Given the description of an element on the screen output the (x, y) to click on. 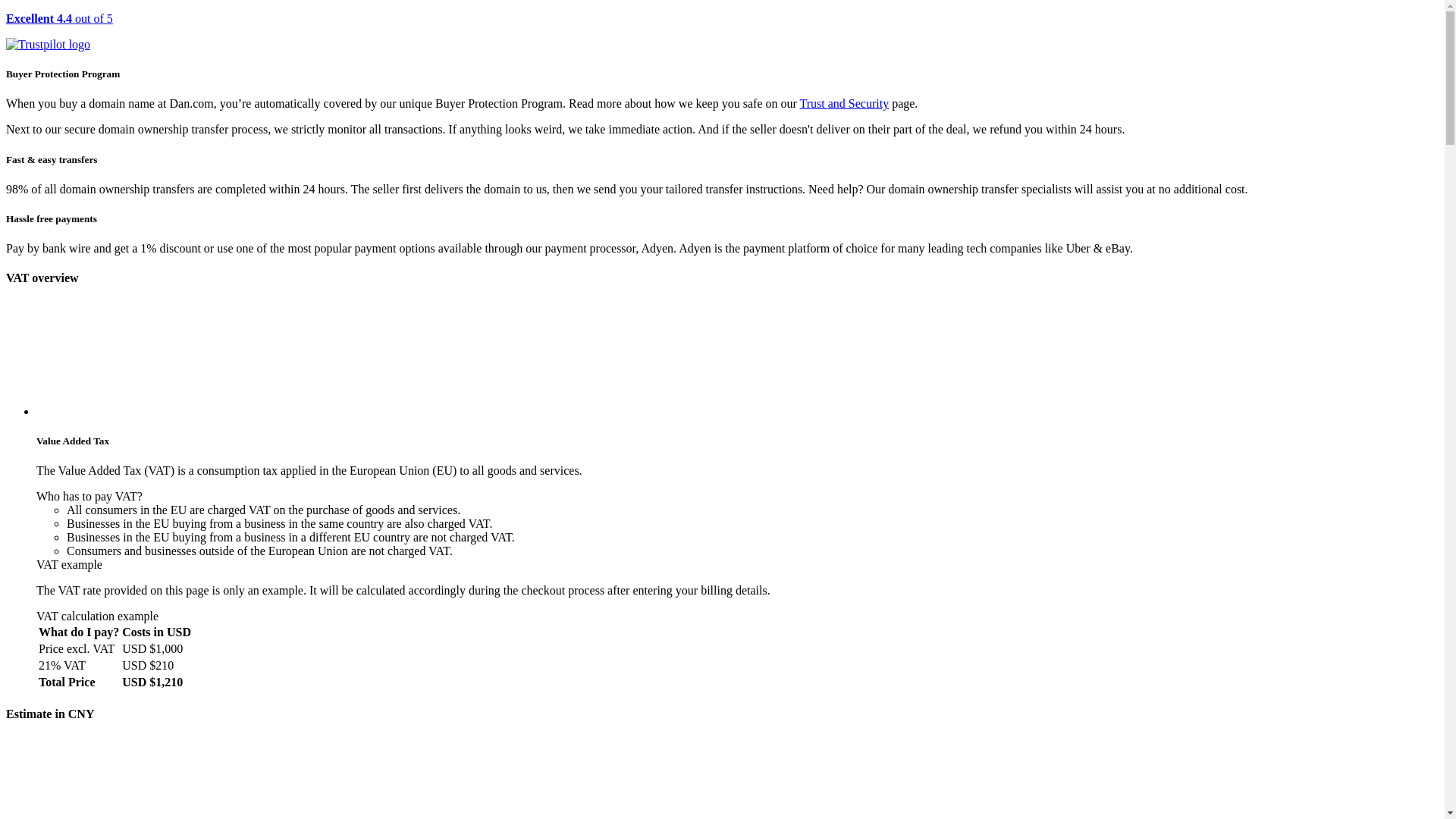
Excellent 4.4 out of 5 Element type: text (722, 31)
Trust and Security Element type: text (844, 103)
